Given the description of an element on the screen output the (x, y) to click on. 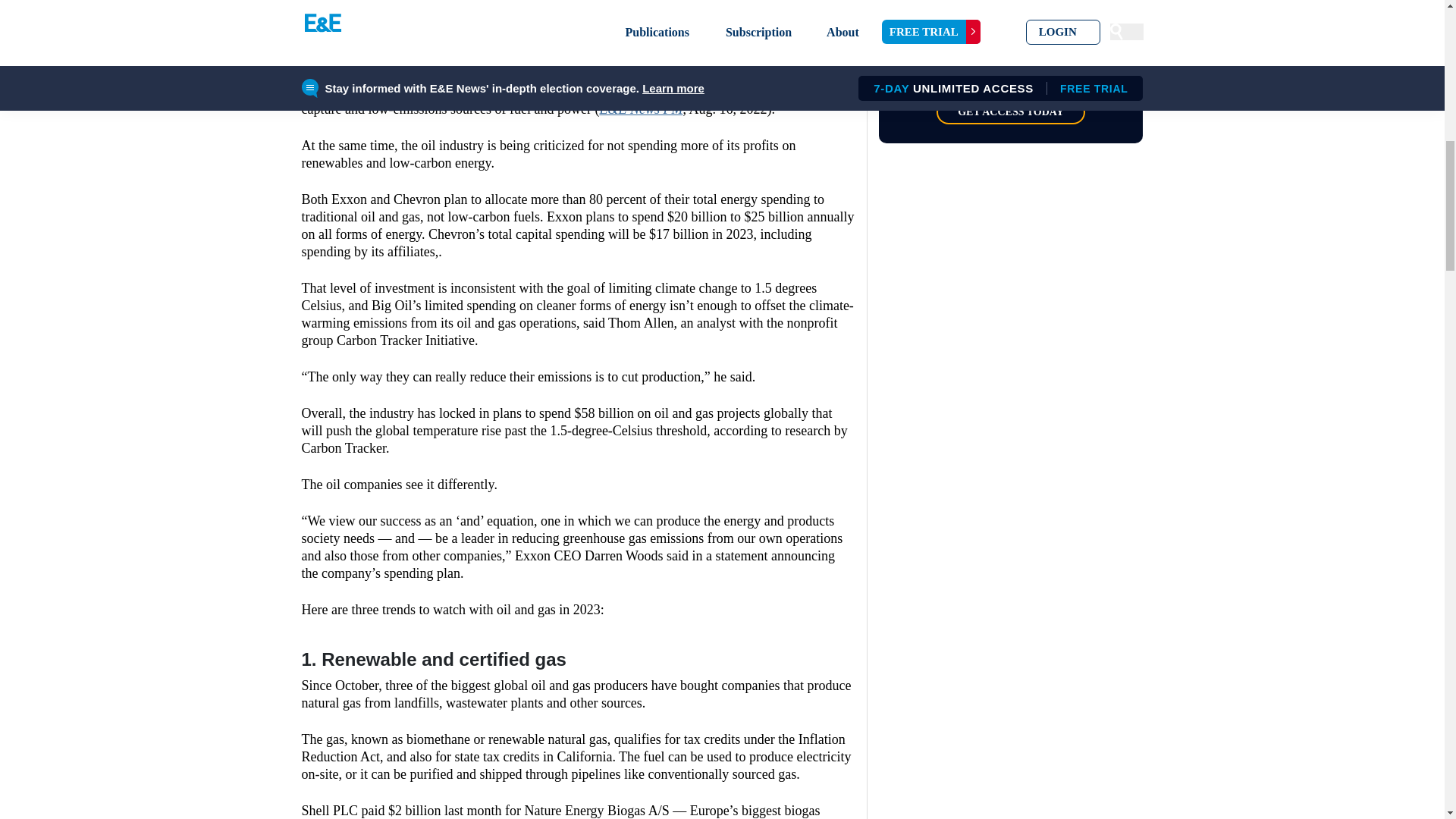
3rd party ad content (577, 14)
